Given the description of an element on the screen output the (x, y) to click on. 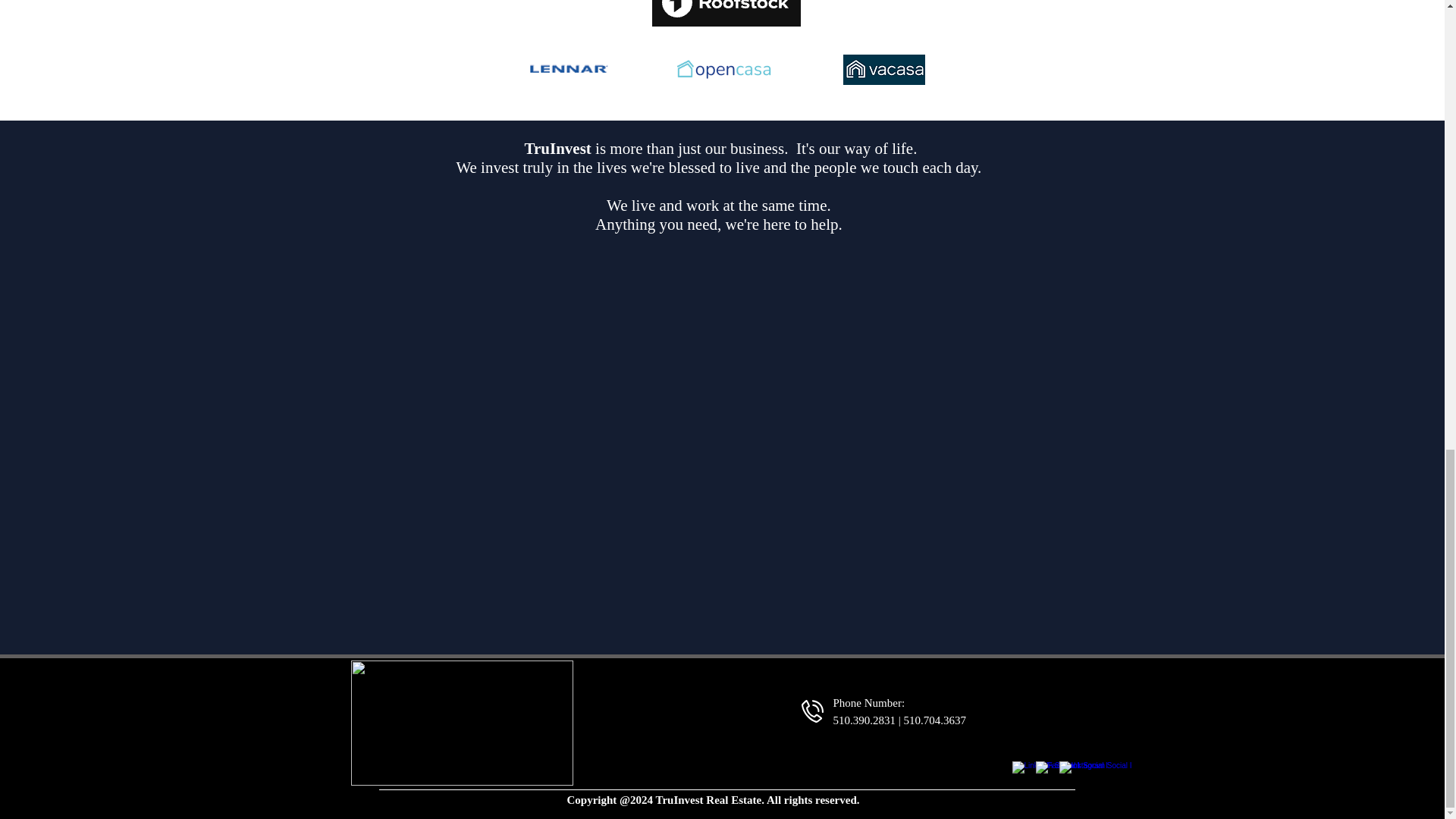
Screen Shot 2024-06-26 at 9.12.50 PM.png (726, 13)
